Given the description of an element on the screen output the (x, y) to click on. 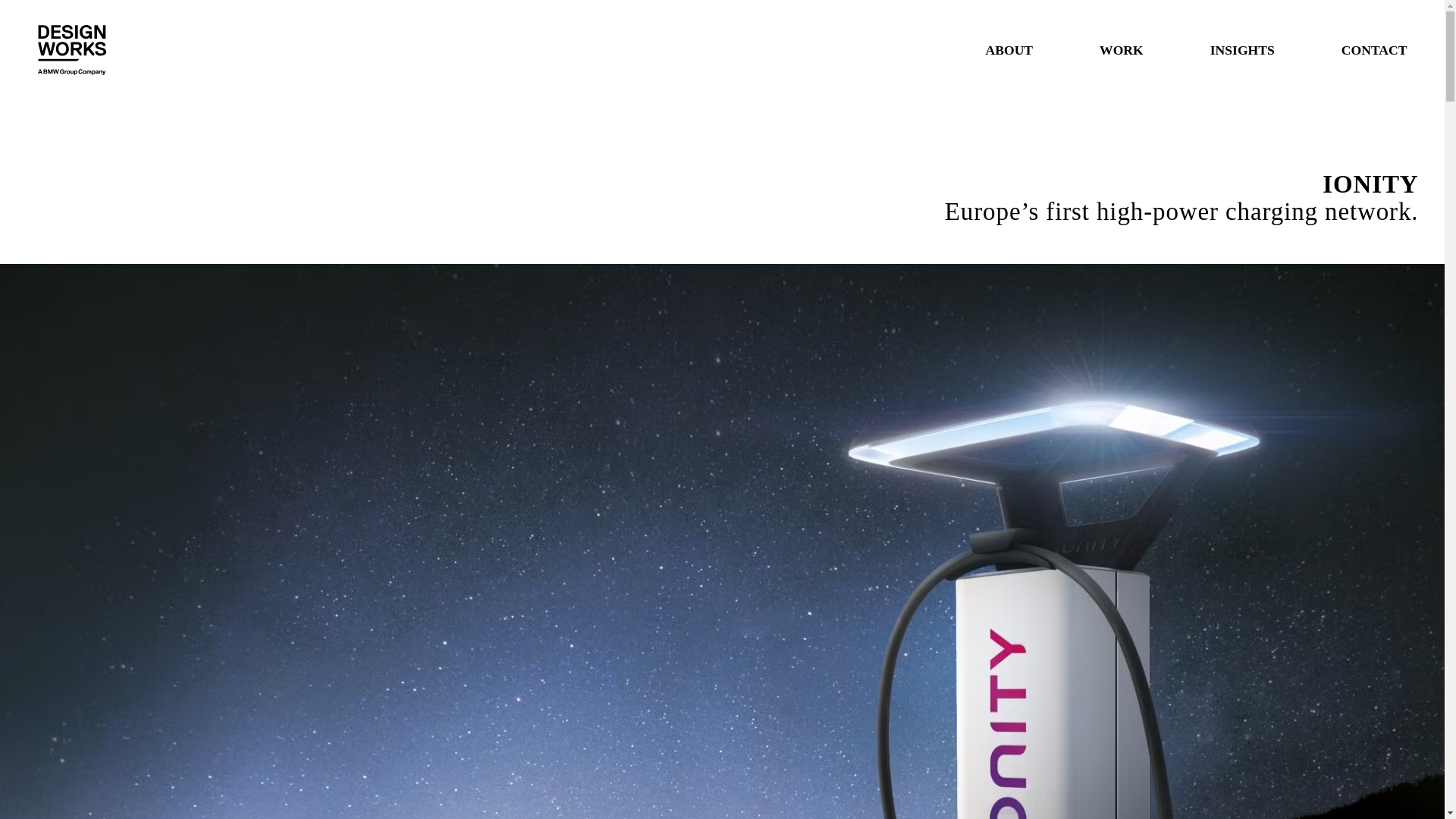
WORK (1120, 49)
CONTACT (1373, 49)
ABOUT (1009, 49)
INSIGHTS (1242, 49)
